Given the description of an element on the screen output the (x, y) to click on. 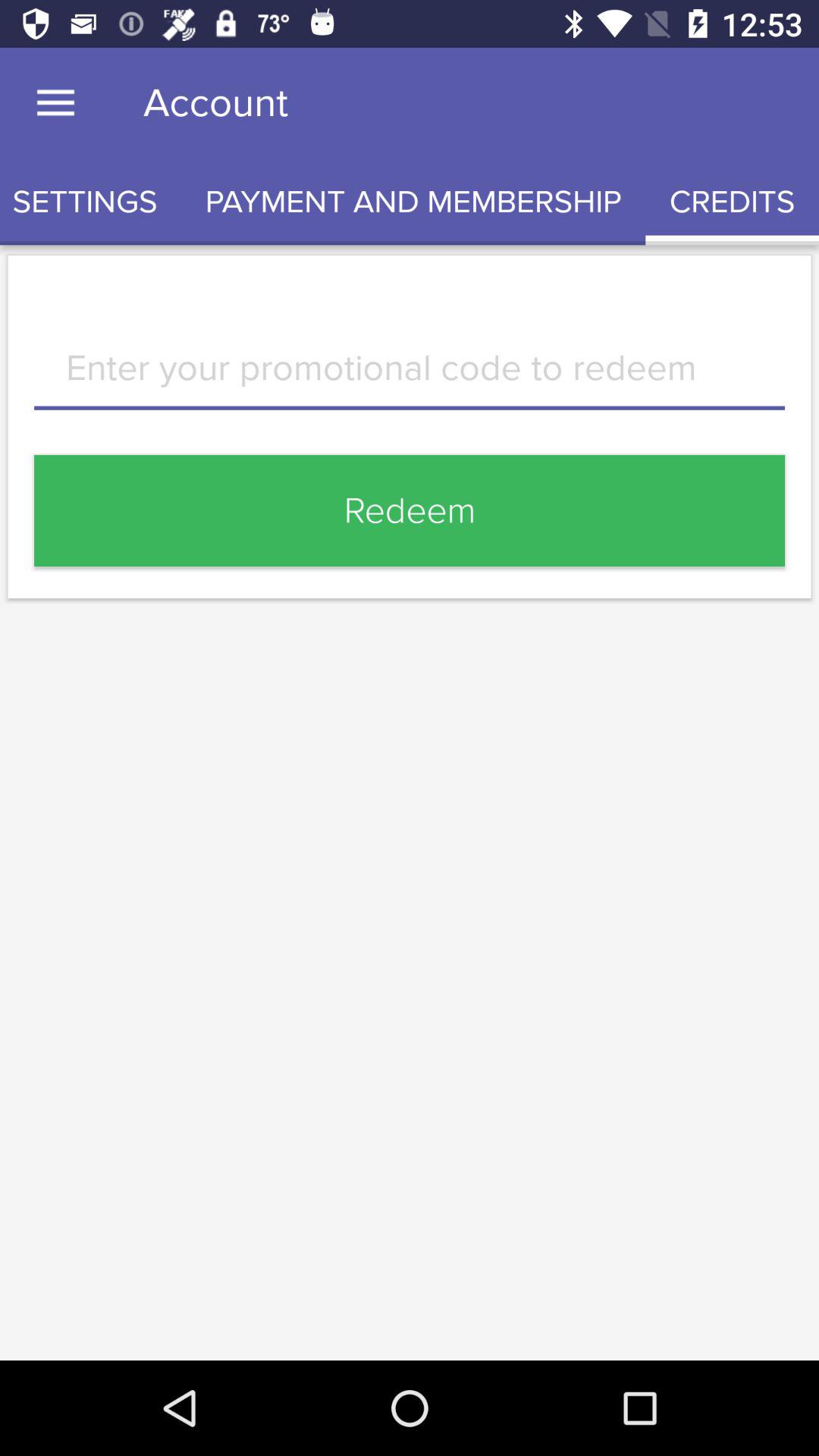
flip until the payment and membership icon (413, 202)
